Given the description of an element on the screen output the (x, y) to click on. 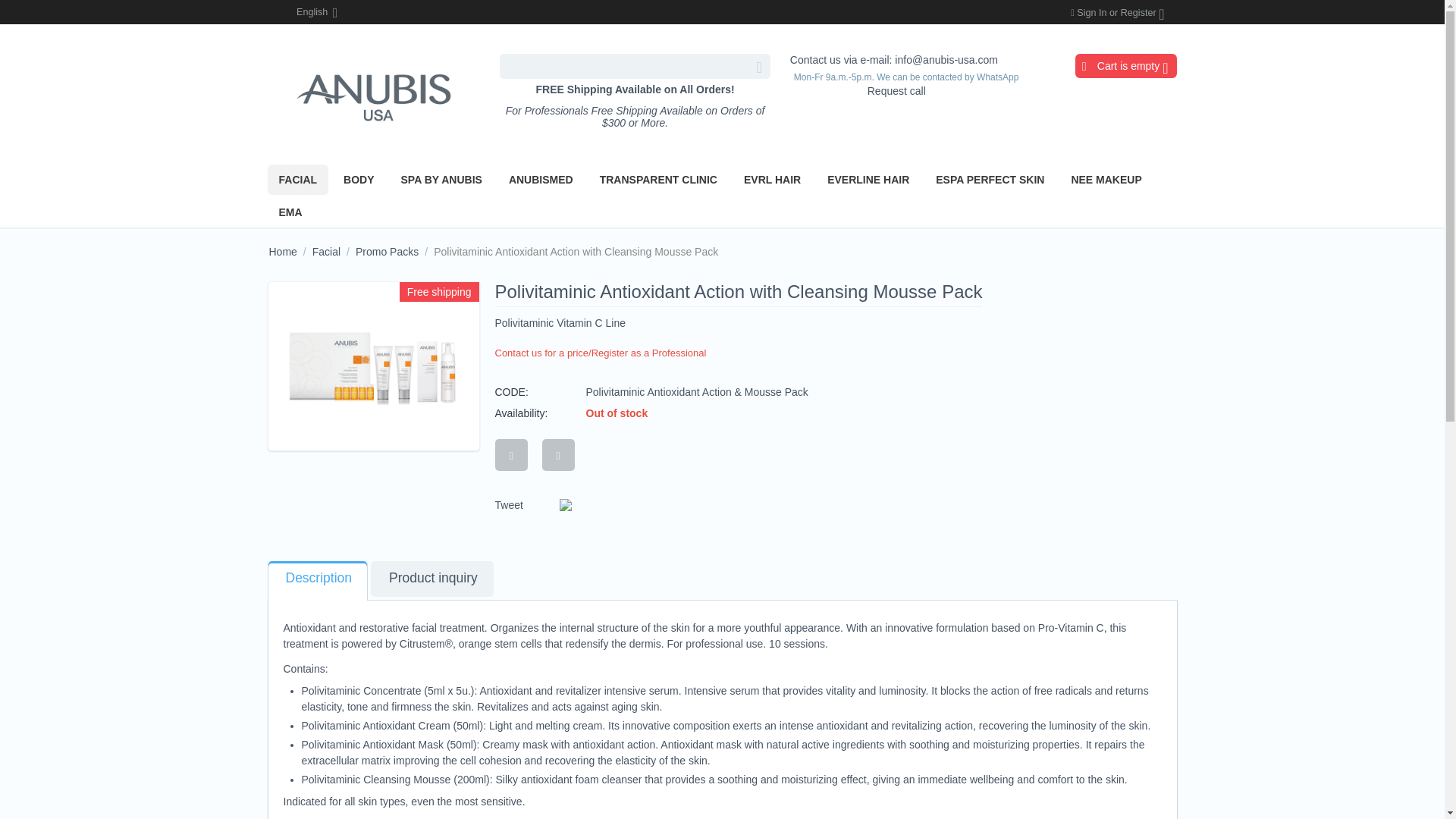
Search products (634, 66)
 Sign In or Register (1117, 12)
Cart is empty (1125, 65)
Add to comparison list (558, 454)
Add to wish list (511, 454)
BODY (358, 179)
English (306, 11)
FACIAL (297, 179)
Polivitaminic Antioxidant Action with Cleansing Mousse Pack (373, 366)
Request call (896, 91)
